Given the description of an element on the screen output the (x, y) to click on. 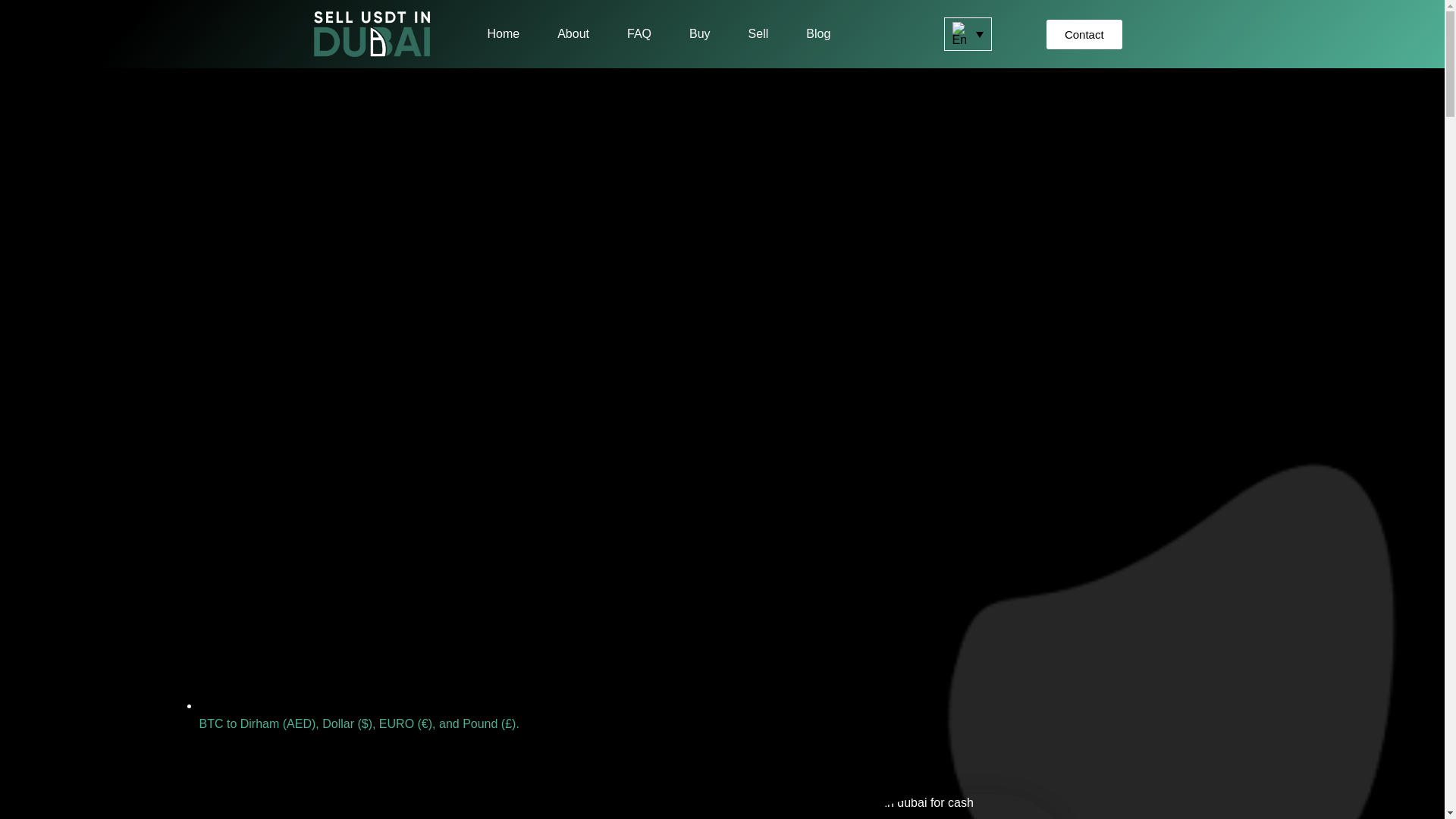
Home (502, 33)
Blog (817, 33)
FAQ (638, 33)
Sell Btc In Dubai For Cash (900, 806)
Contact (1084, 34)
Sell (758, 33)
Buy (699, 33)
About (573, 33)
